Given the description of an element on the screen output the (x, y) to click on. 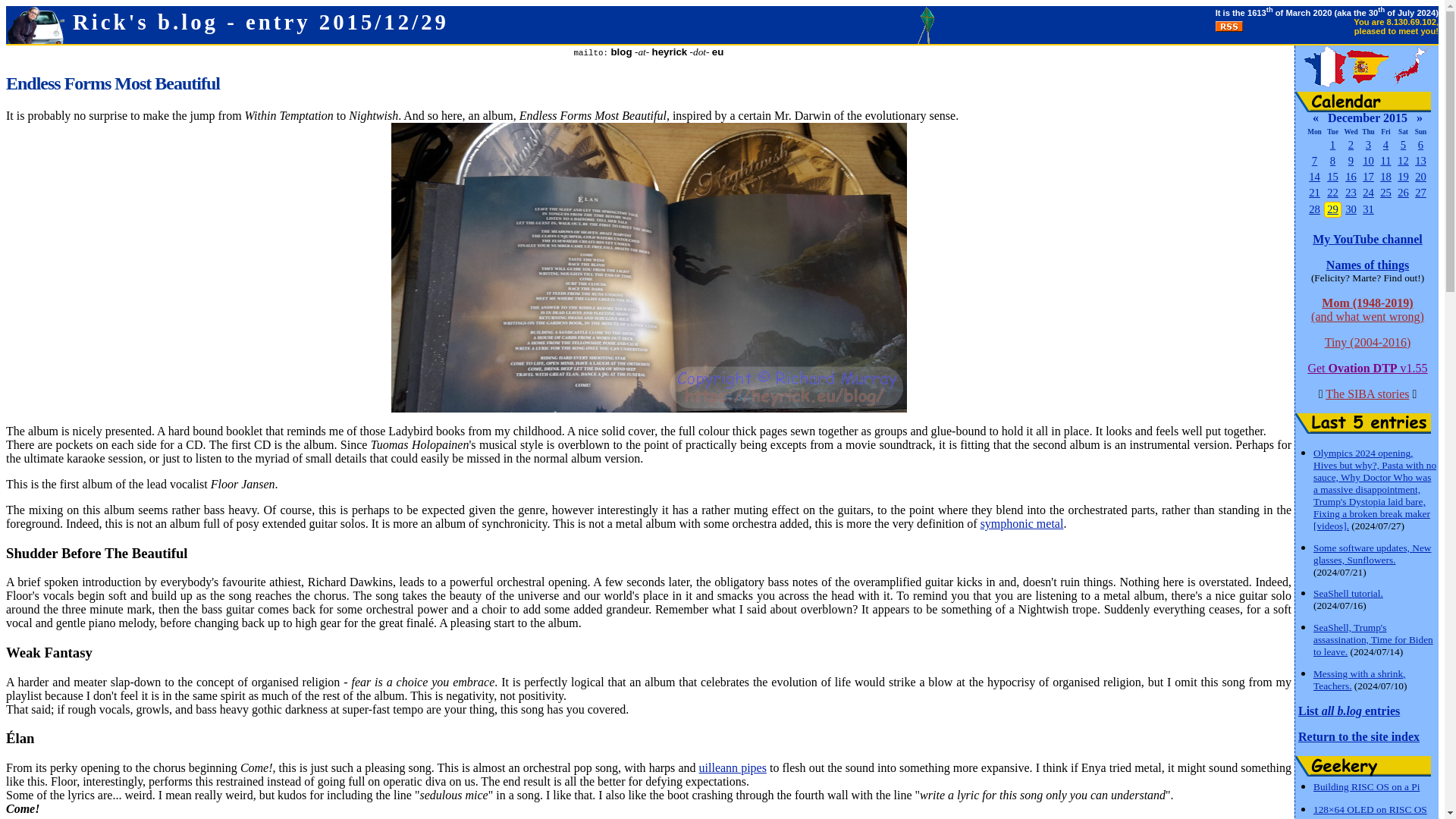
uilleann pipes (732, 767)
symphonic metal (1021, 522)
Calendar (1363, 101)
December 2015 (1367, 117)
10 (1368, 160)
Playmobil Advent Calendar - Day Ten (1368, 160)
14 (1314, 176)
15 (1332, 176)
Playmobil Advent Calendar - Day Fourteen (1314, 176)
13 (1420, 160)
12 (1403, 160)
Playmobil Advent Calendar - Day Twelve (1403, 160)
